Given the description of an element on the screen output the (x, y) to click on. 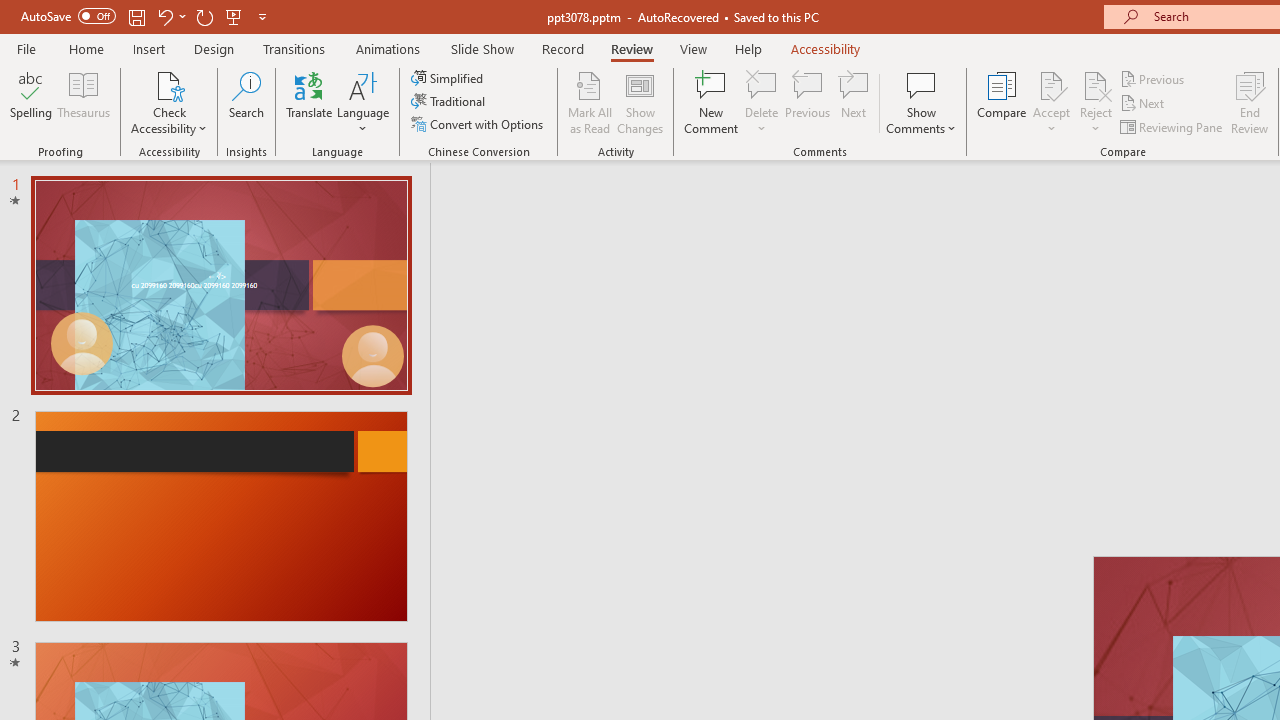
Show Changes (639, 102)
Previous (1153, 78)
Reject Change (1096, 84)
